Given the description of an element on the screen output the (x, y) to click on. 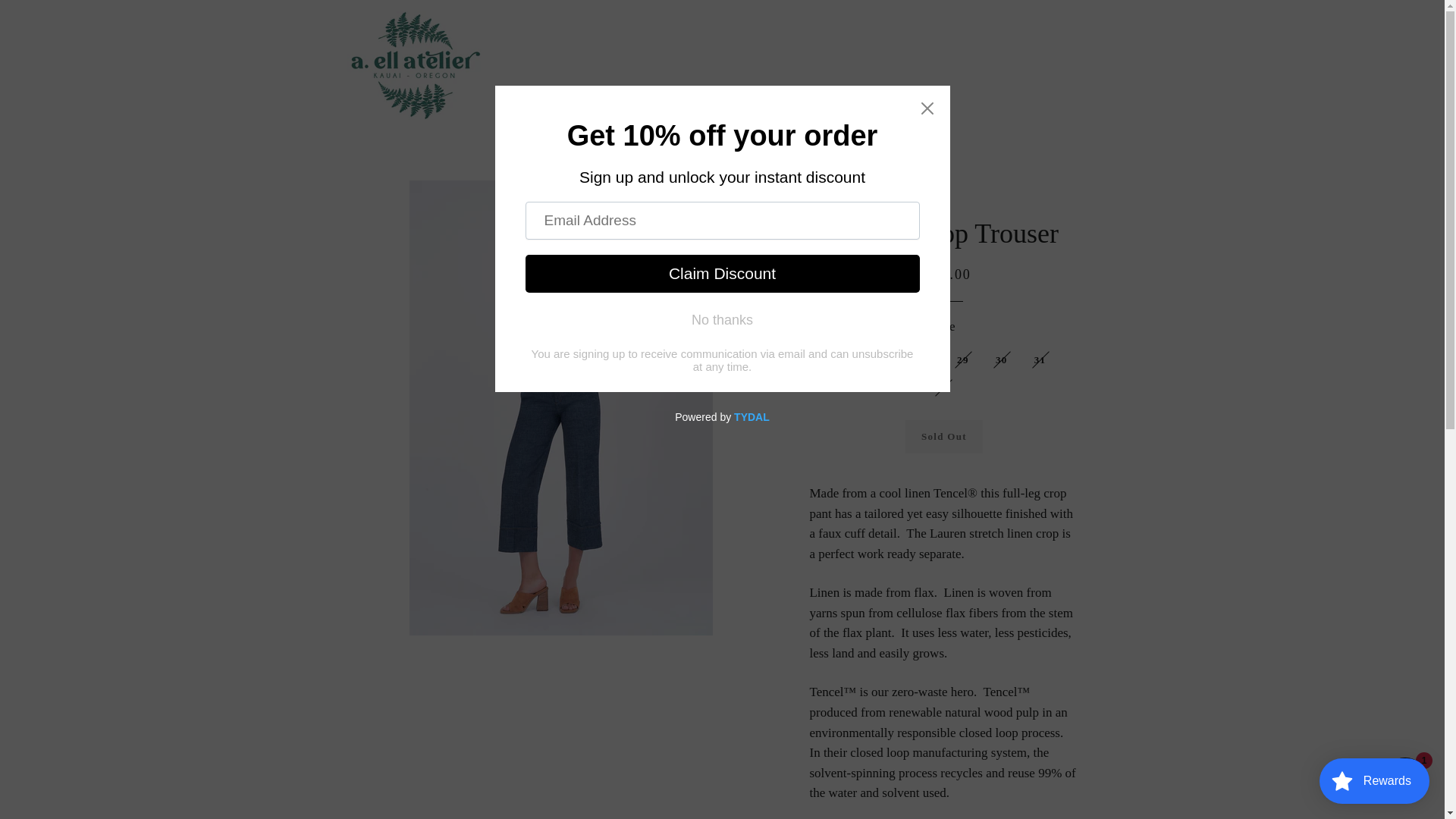
Shopify online store chat (1404, 781)
Sold Out (943, 436)
